Given the description of an element on the screen output the (x, y) to click on. 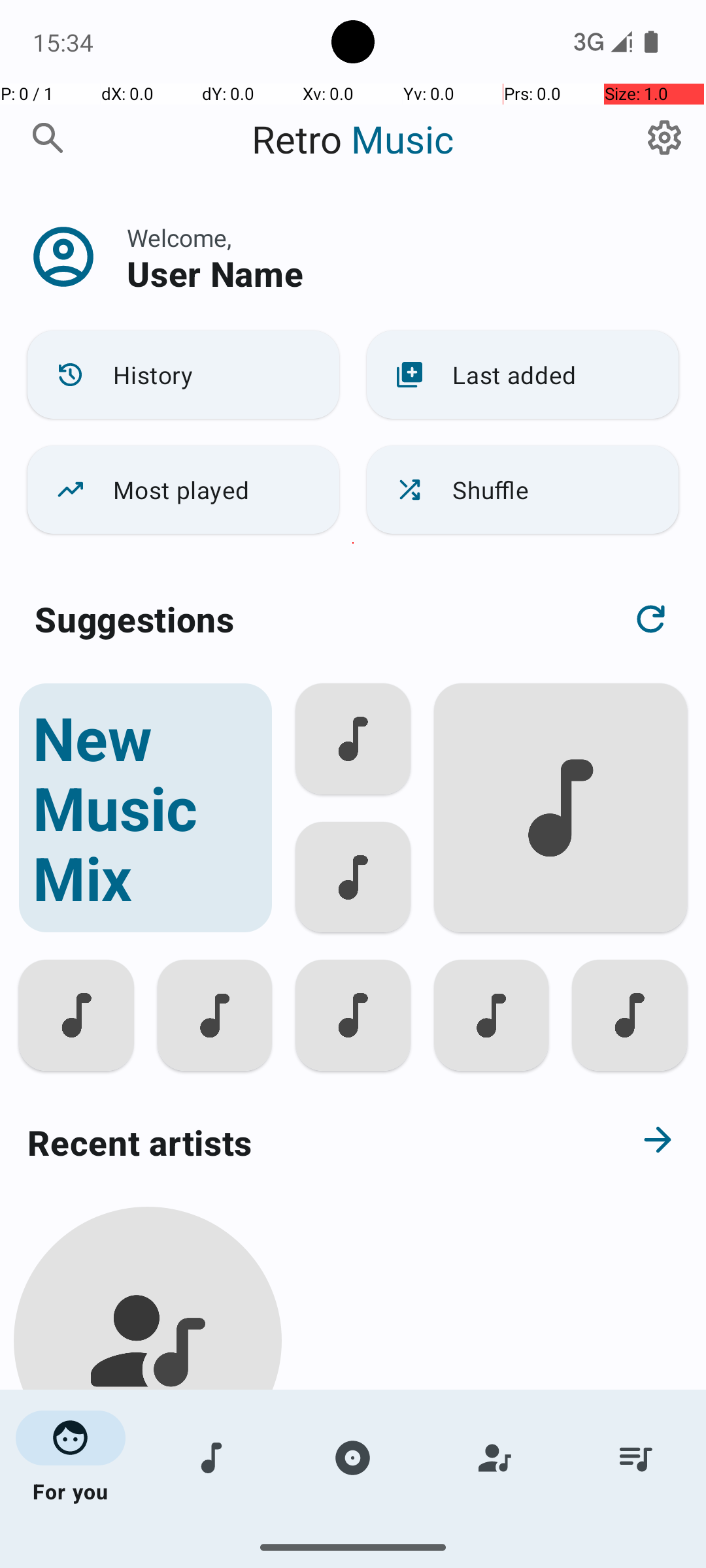
Mohammad Element type: android.widget.TextView (147, 1503)
